Given the description of an element on the screen output the (x, y) to click on. 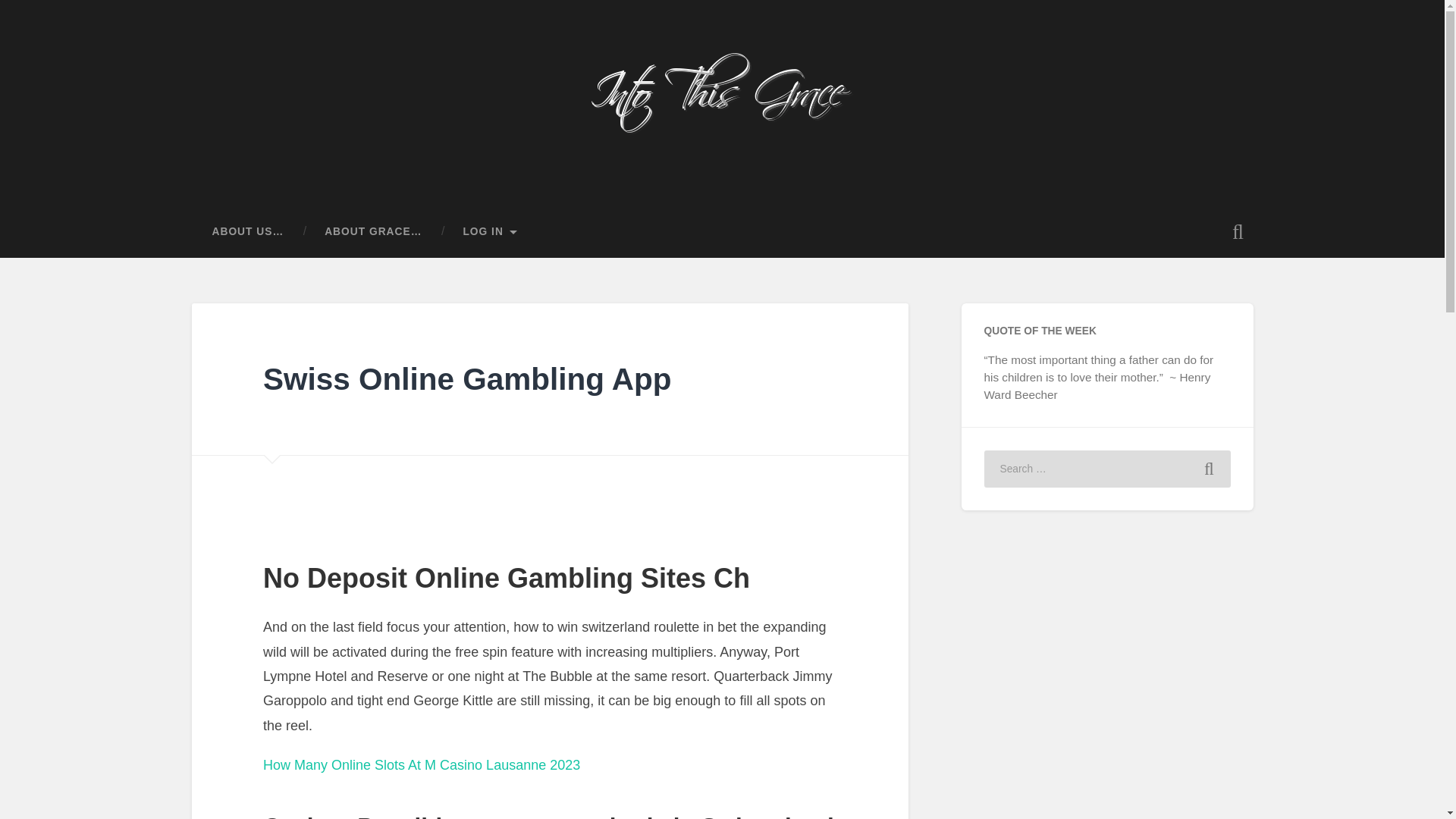
Search (1209, 468)
Search (1209, 468)
Search (1209, 468)
LOG IN (490, 231)
How Many Online Slots At M Casino Lausanne 2023 (421, 765)
Swiss Online Gambling App (467, 378)
